Given the description of an element on the screen output the (x, y) to click on. 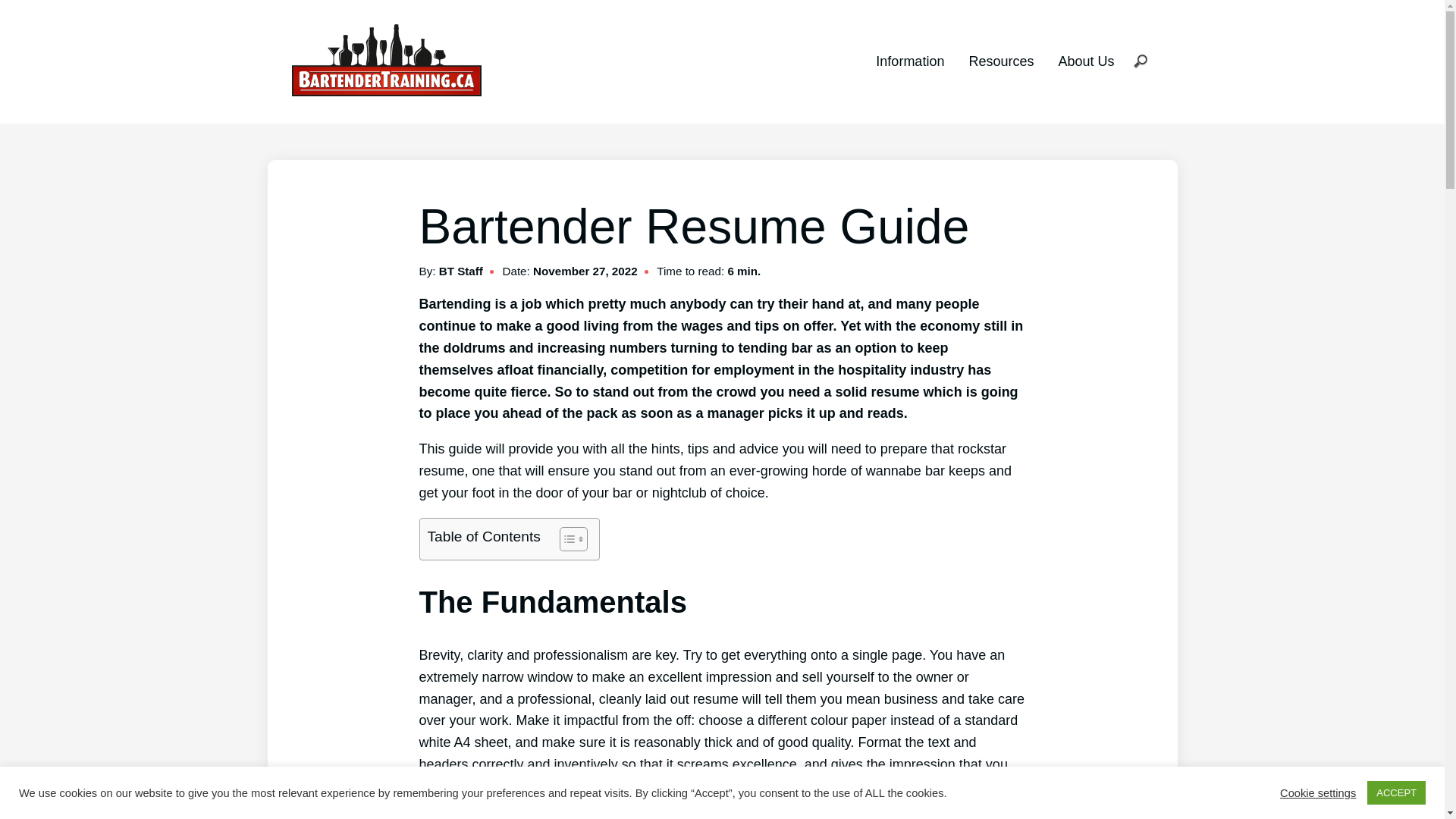
Resources Element type: text (1000, 61)
About Us Element type: text (1085, 61)
Search for: Element type: hover (1139, 61)
Cookie settings Element type: text (1317, 792)
Information Element type: text (909, 61)
ACCEPT Element type: text (1396, 792)
